Given the description of an element on the screen output the (x, y) to click on. 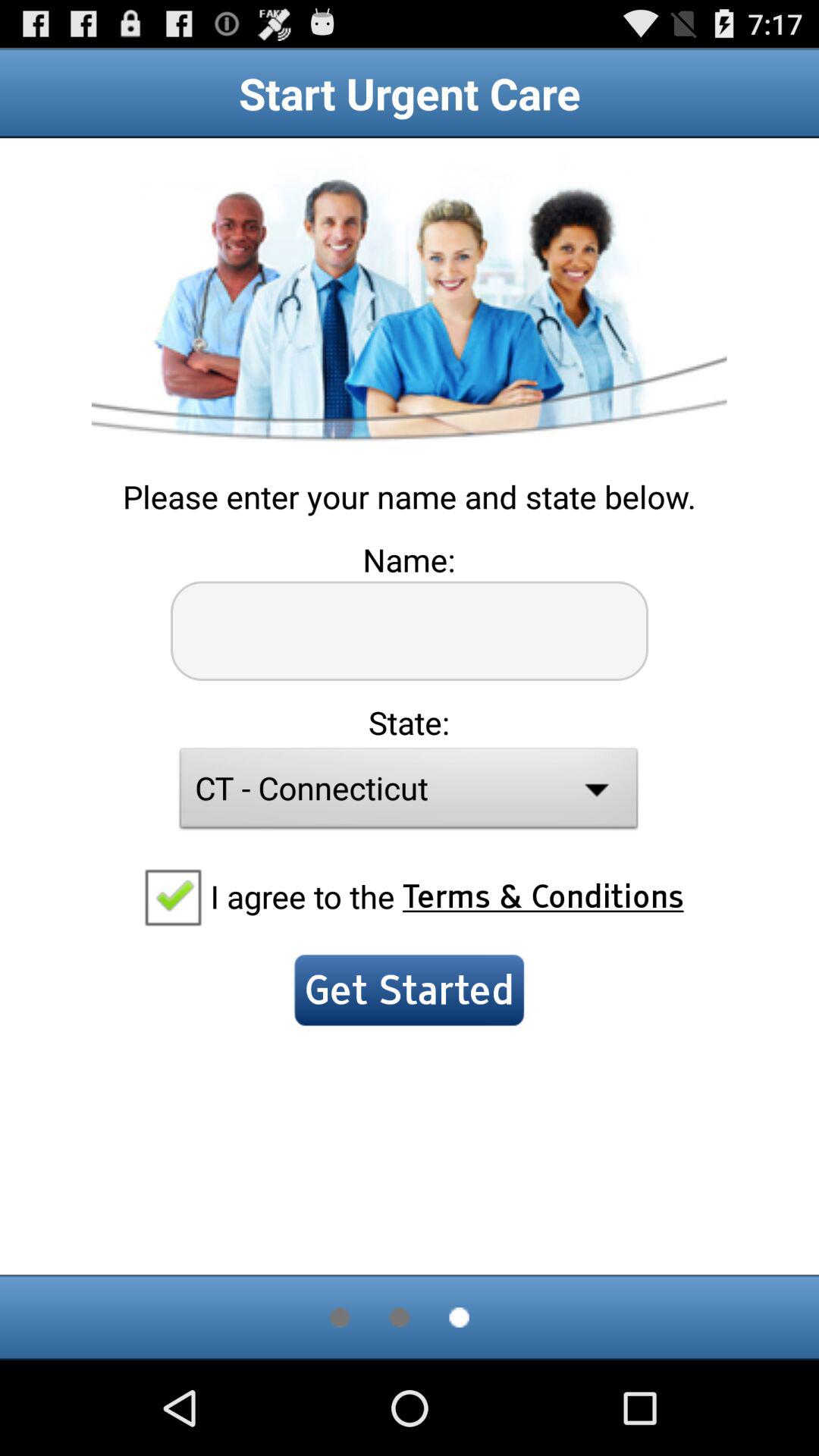
agree to terms and conditions (172, 896)
